Given the description of an element on the screen output the (x, y) to click on. 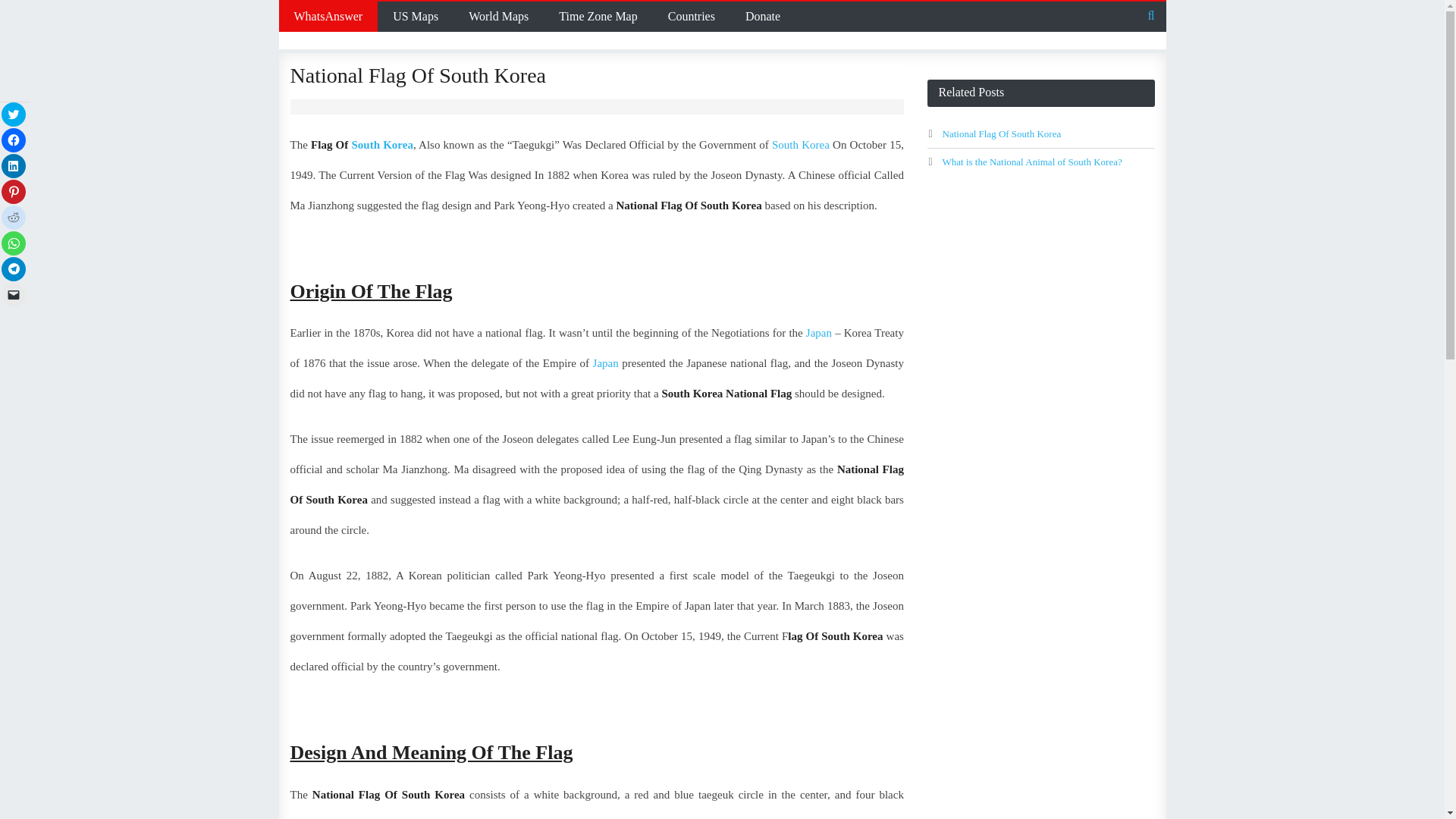
National Flag Of South Korea (1001, 133)
Japan (605, 363)
Click to email a link to a friend (13, 294)
What is the National Animal of South Korea? (1031, 161)
Click to share on Pinterest (13, 191)
Donate (762, 16)
WhatsAnswer (328, 16)
Time Zone Map (597, 16)
South Korea (381, 144)
South Korea (800, 144)
Japan (818, 332)
Click to share on LinkedIn (13, 165)
US Maps (414, 16)
Click to share on Facebook (13, 139)
Click to share on Twitter (13, 114)
